Given the description of an element on the screen output the (x, y) to click on. 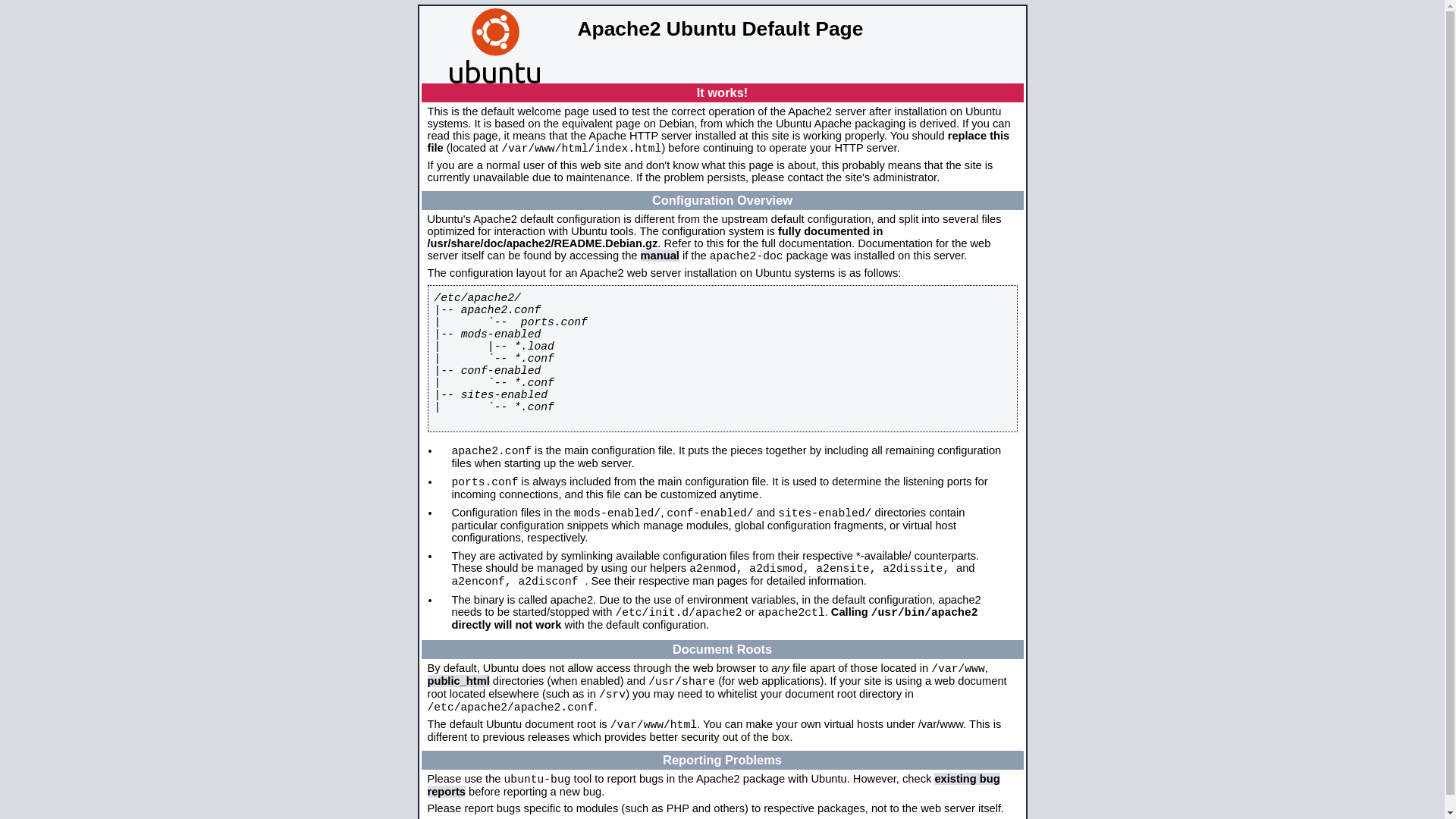
public_html Element type: text (458, 680)
manual Element type: text (659, 255)
existing bug reports Element type: text (713, 784)
